Given the description of an element on the screen output the (x, y) to click on. 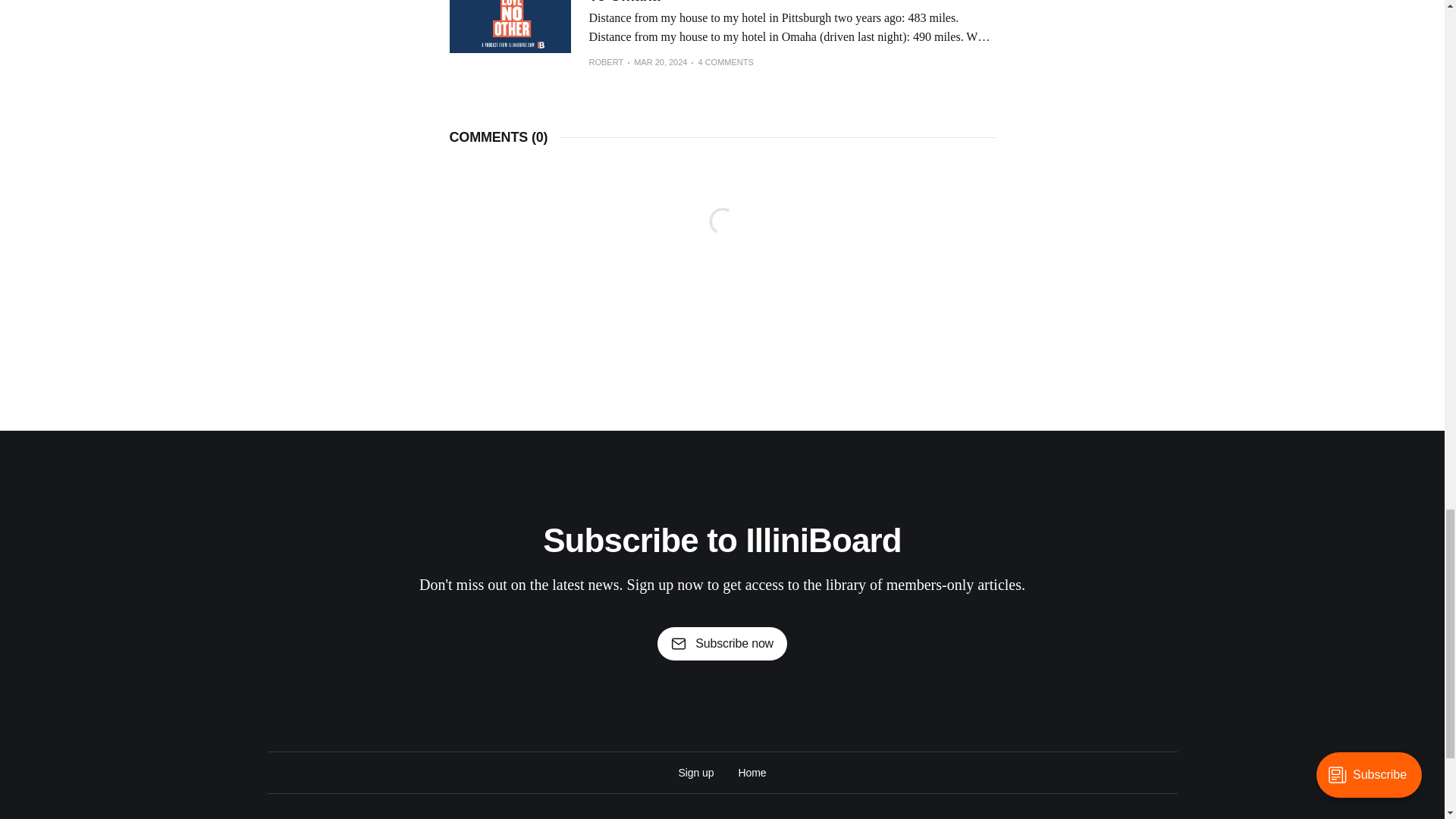
Sign up (696, 772)
Home (751, 772)
comments-frame (721, 239)
Subscribe now (722, 643)
